Given the description of an element on the screen output the (x, y) to click on. 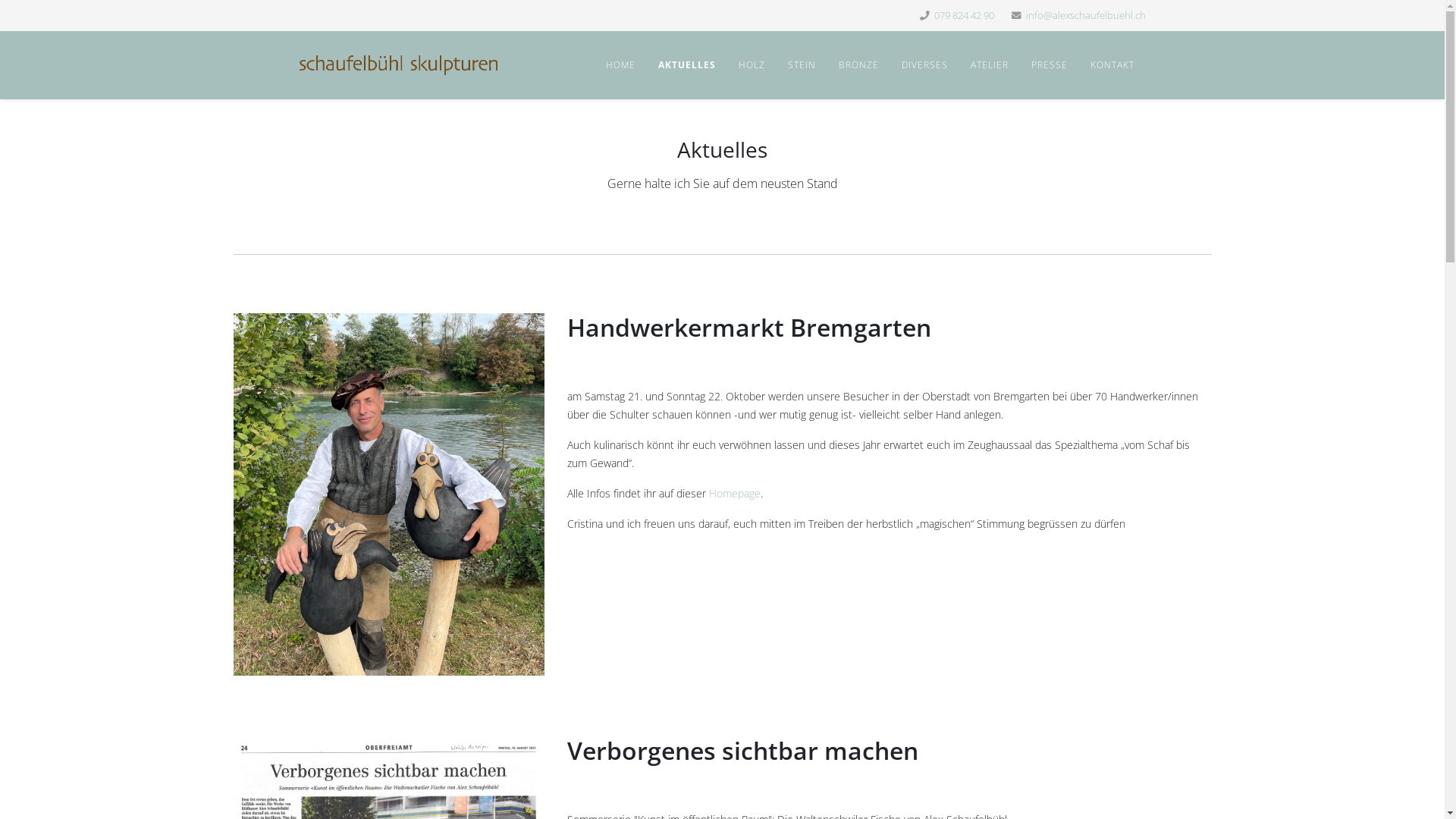
HOLZ Element type: text (750, 65)
AKTUELLES Element type: text (686, 65)
HOME Element type: text (620, 65)
info@alexschaufelbuehl.ch Element type: text (1085, 15)
STEIN Element type: text (801, 65)
ATELIER Element type: text (988, 65)
PRESSE Element type: text (1048, 65)
Homepage Element type: text (733, 493)
079 824 42 90 Element type: text (964, 15)
BRONZE Element type: text (857, 65)
DIVERSES Element type: text (924, 65)
KONTAKT Element type: text (1111, 65)
